Given the description of an element on the screen output the (x, y) to click on. 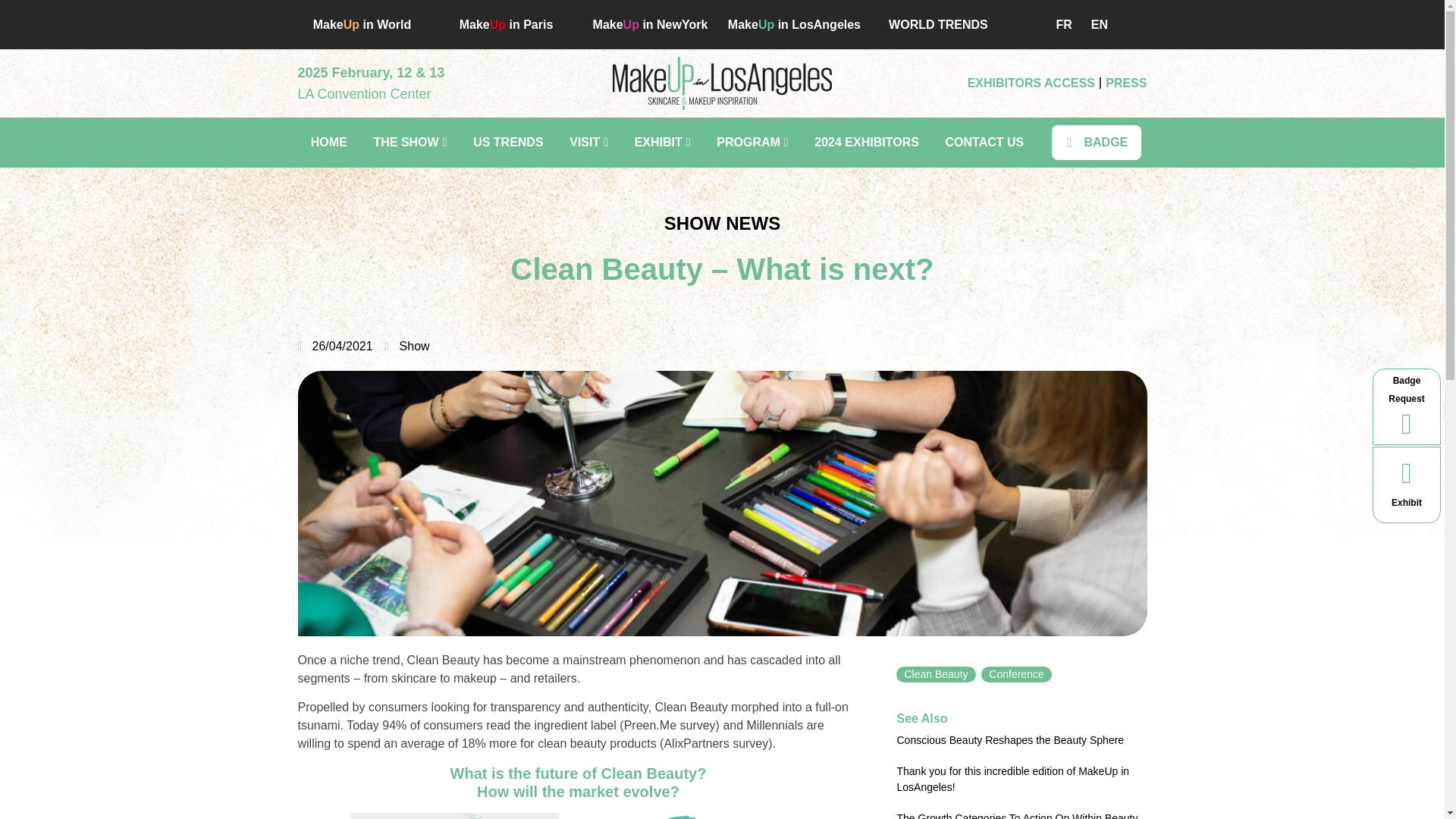
PROGRAM (752, 142)
PRESS (1126, 82)
MakeUp in Paris (506, 24)
FR (1059, 24)
CONTACT US (983, 142)
THE SHOW (409, 142)
MakeUp in NewYork (649, 24)
MakeUp in World (362, 24)
HOME (328, 142)
WORLD TRENDS (938, 24)
US TRENDS (508, 142)
MakeUp in LosAngeles (794, 24)
MAKEUP-LOSANGELES-LOGO (721, 82)
2024 EXHIBITORS (866, 142)
EXHIBITORS ACCESS (1031, 82)
